Given the description of an element on the screen output the (x, y) to click on. 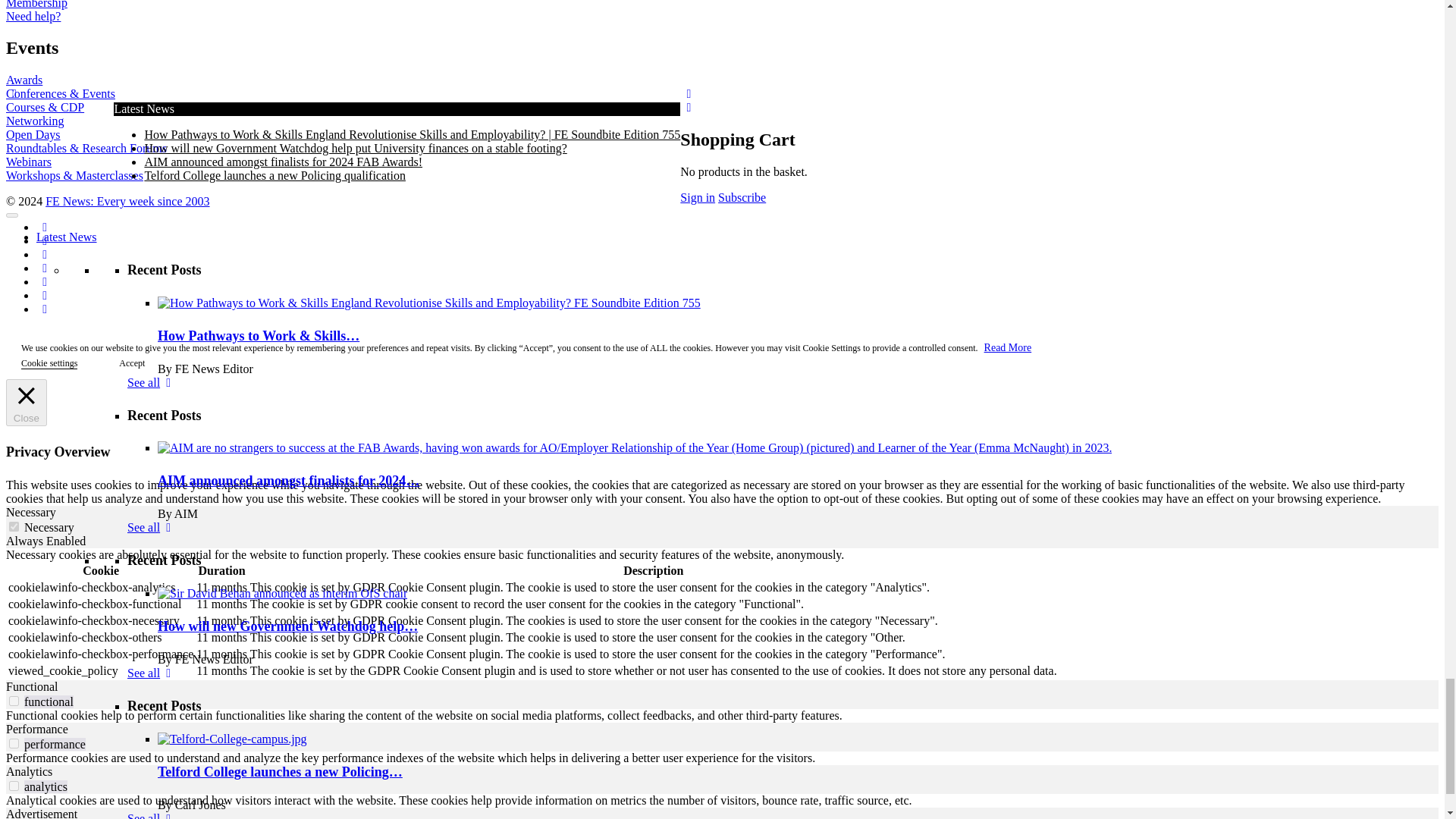
on (13, 786)
on (13, 526)
on (13, 700)
on (13, 743)
